Given the description of an element on the screen output the (x, y) to click on. 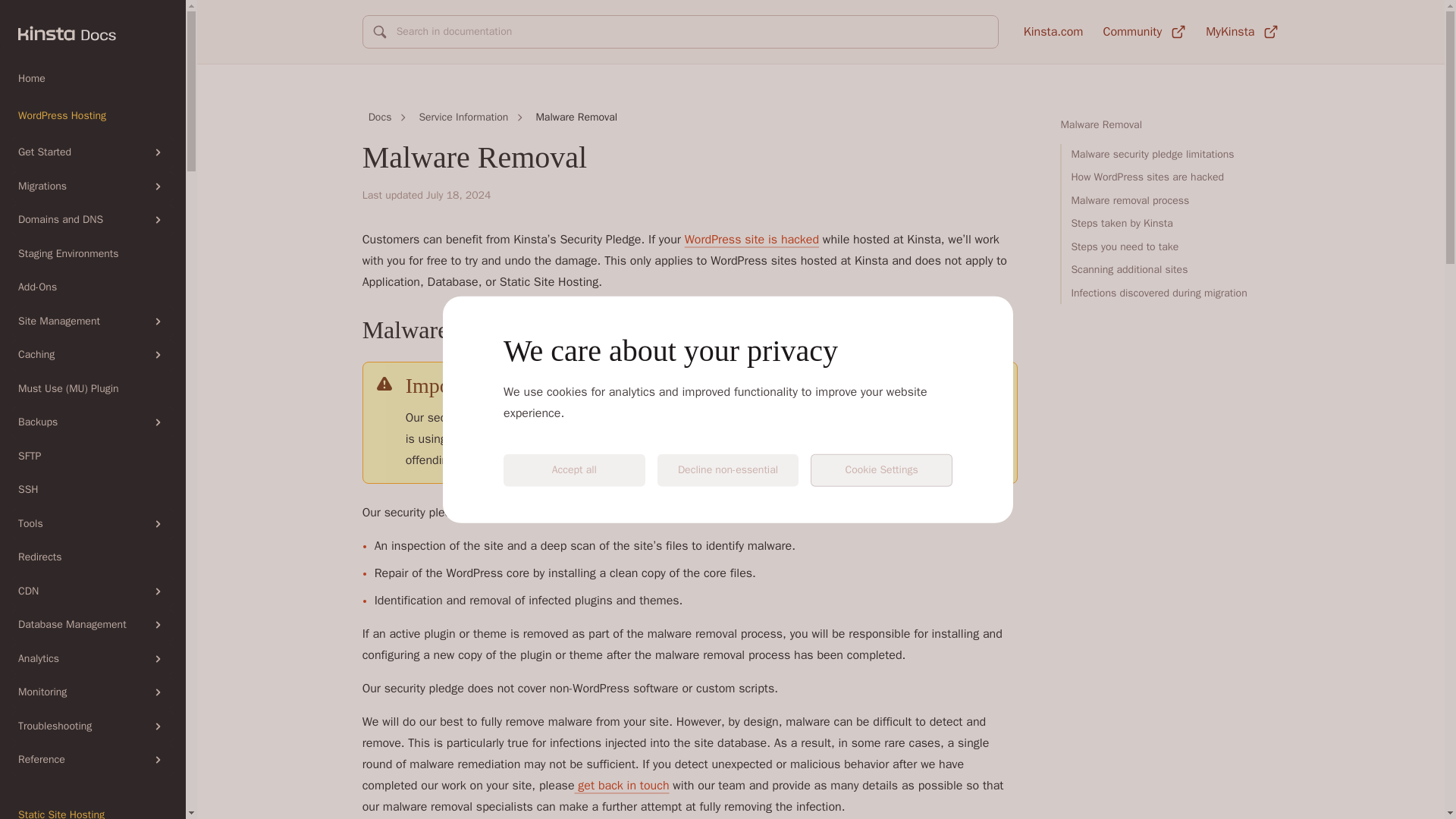
WordPress Hosting (92, 115)
Caching (92, 355)
Staging Environments (92, 253)
Home (92, 79)
Add-Ons (92, 287)
Domains and DNS (92, 219)
Migrations (92, 186)
Site Management (92, 321)
Get Started (92, 152)
